Given the description of an element on the screen output the (x, y) to click on. 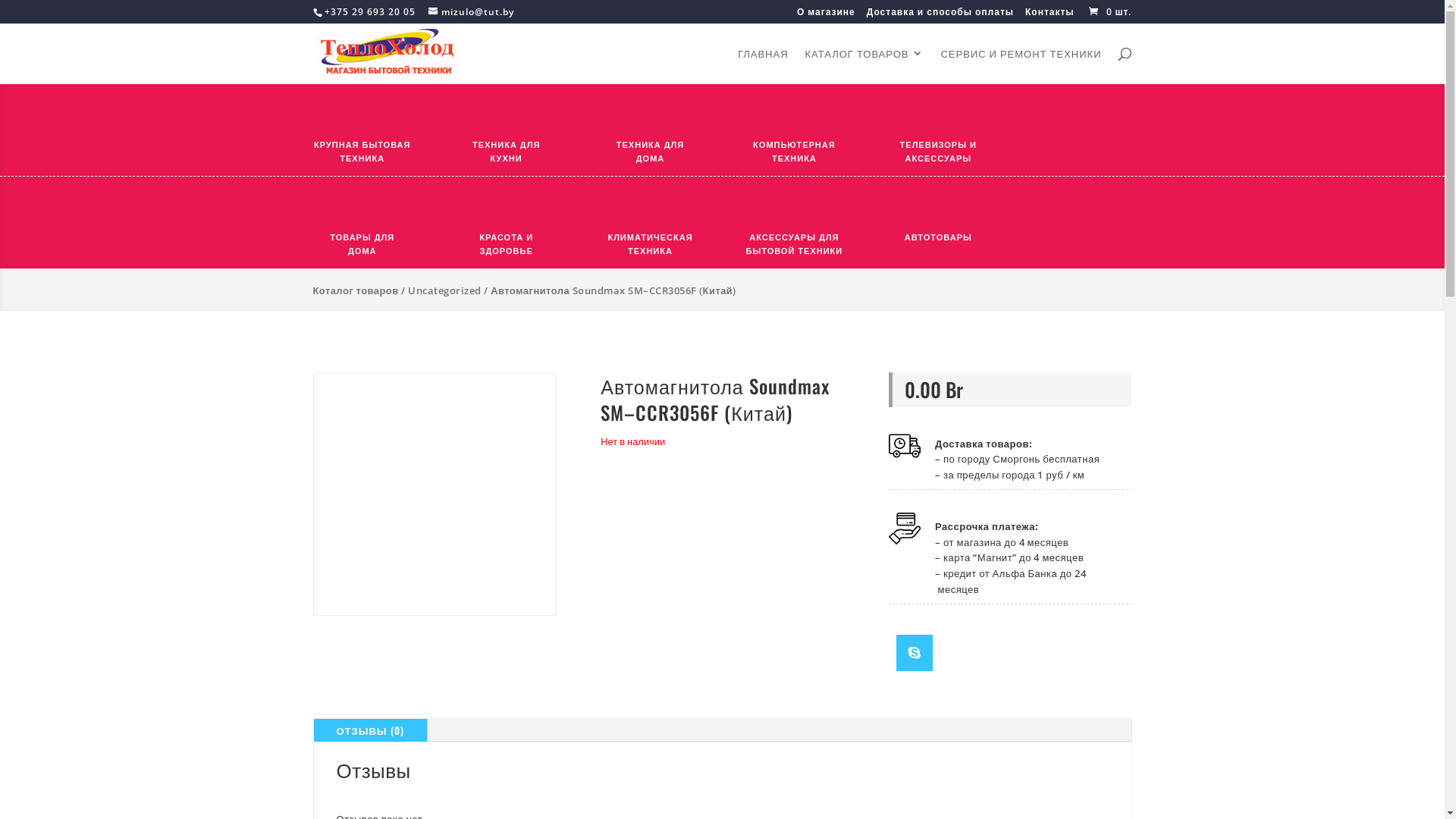
mizulo@tut.by Element type: text (470, 11)
Uncategorized Element type: text (444, 290)
